Given the description of an element on the screen output the (x, y) to click on. 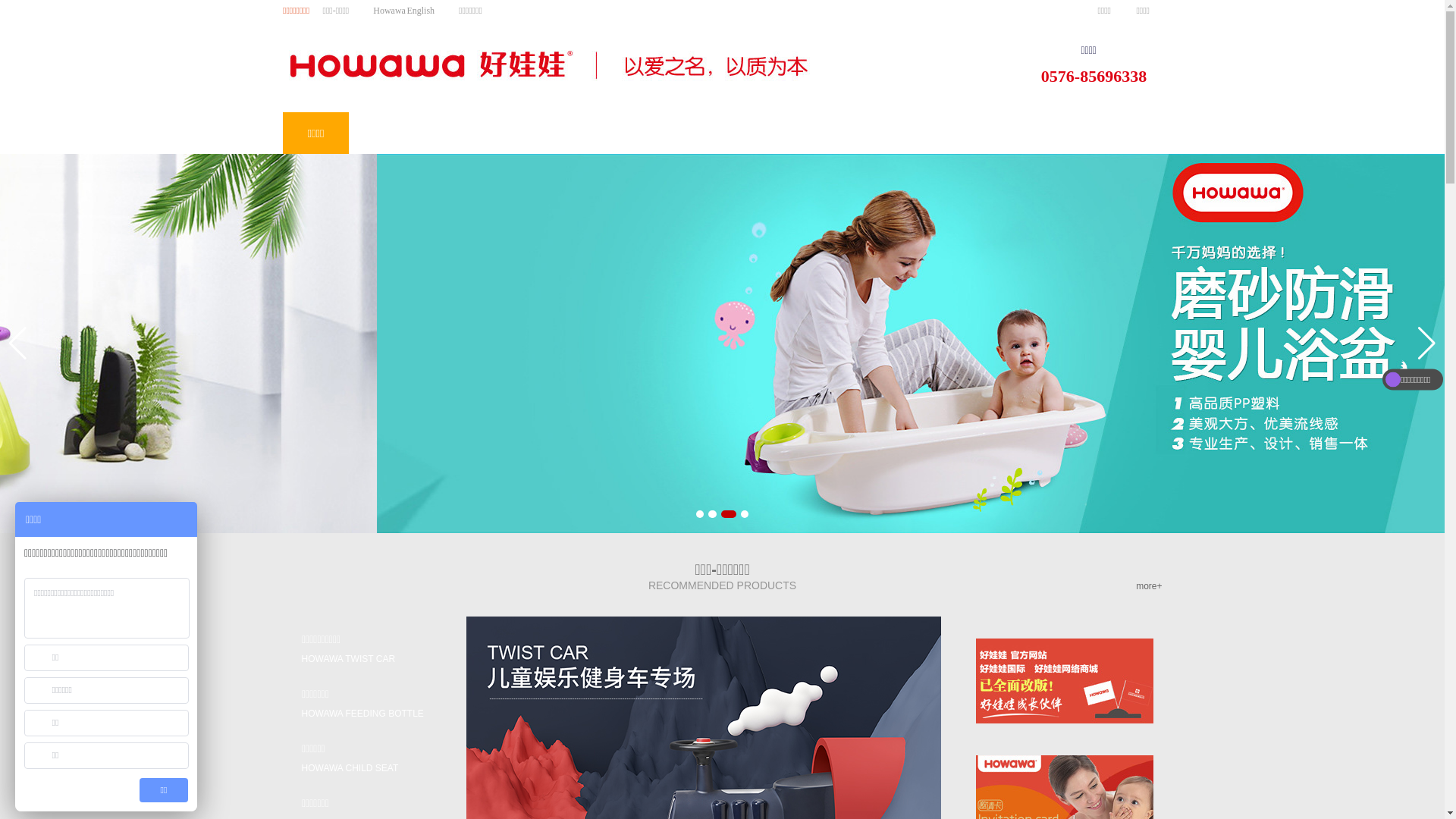
Howawa English Element type: text (403, 10)
more+ Element type: text (1148, 585)
